Given the description of an element on the screen output the (x, y) to click on. 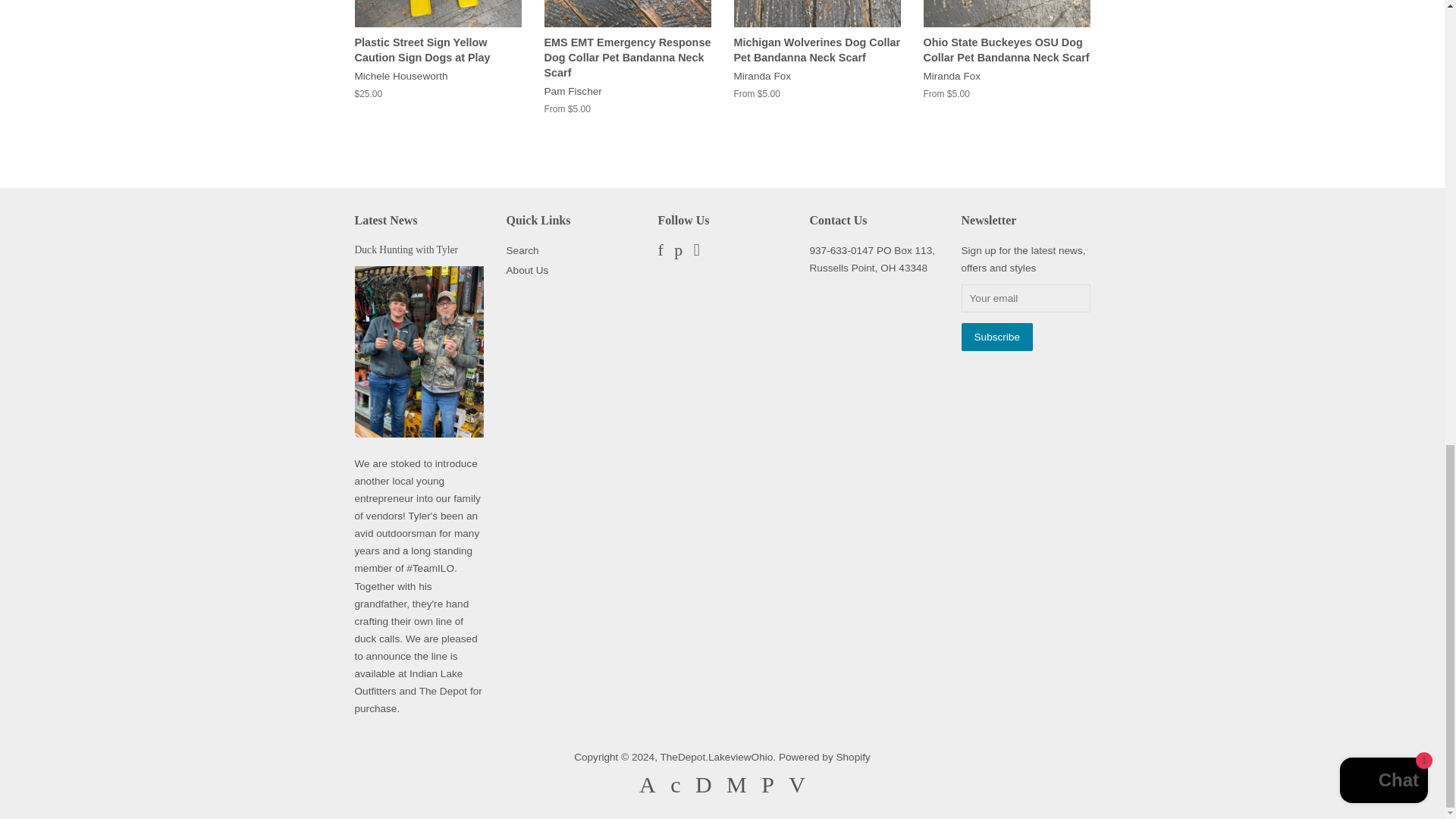
Latest News (386, 219)
TheDepot.LakeviewOhio on Pinterest (678, 251)
Duck Hunting with Tyler (406, 249)
TheDepot.LakeviewOhio on Instagram (697, 251)
TheDepot.LakeviewOhio on Facebook (660, 251)
Subscribe (996, 336)
